Given the description of an element on the screen output the (x, y) to click on. 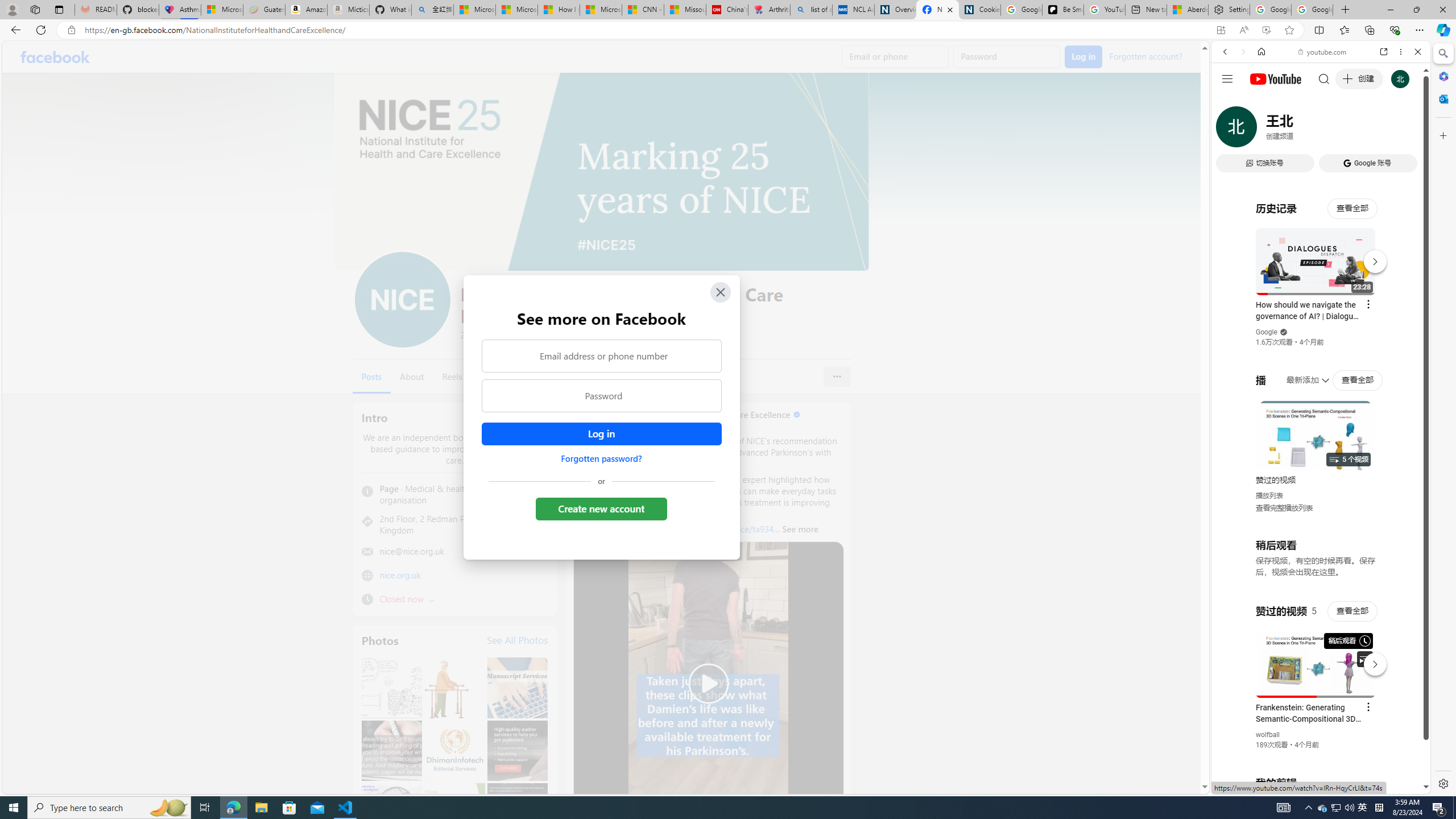
Create new account (601, 508)
Forward (1242, 51)
youtube.com (1322, 51)
IMAGES (1262, 130)
wolfball (1268, 734)
Click to scroll right (1407, 456)
